Given the description of an element on the screen output the (x, y) to click on. 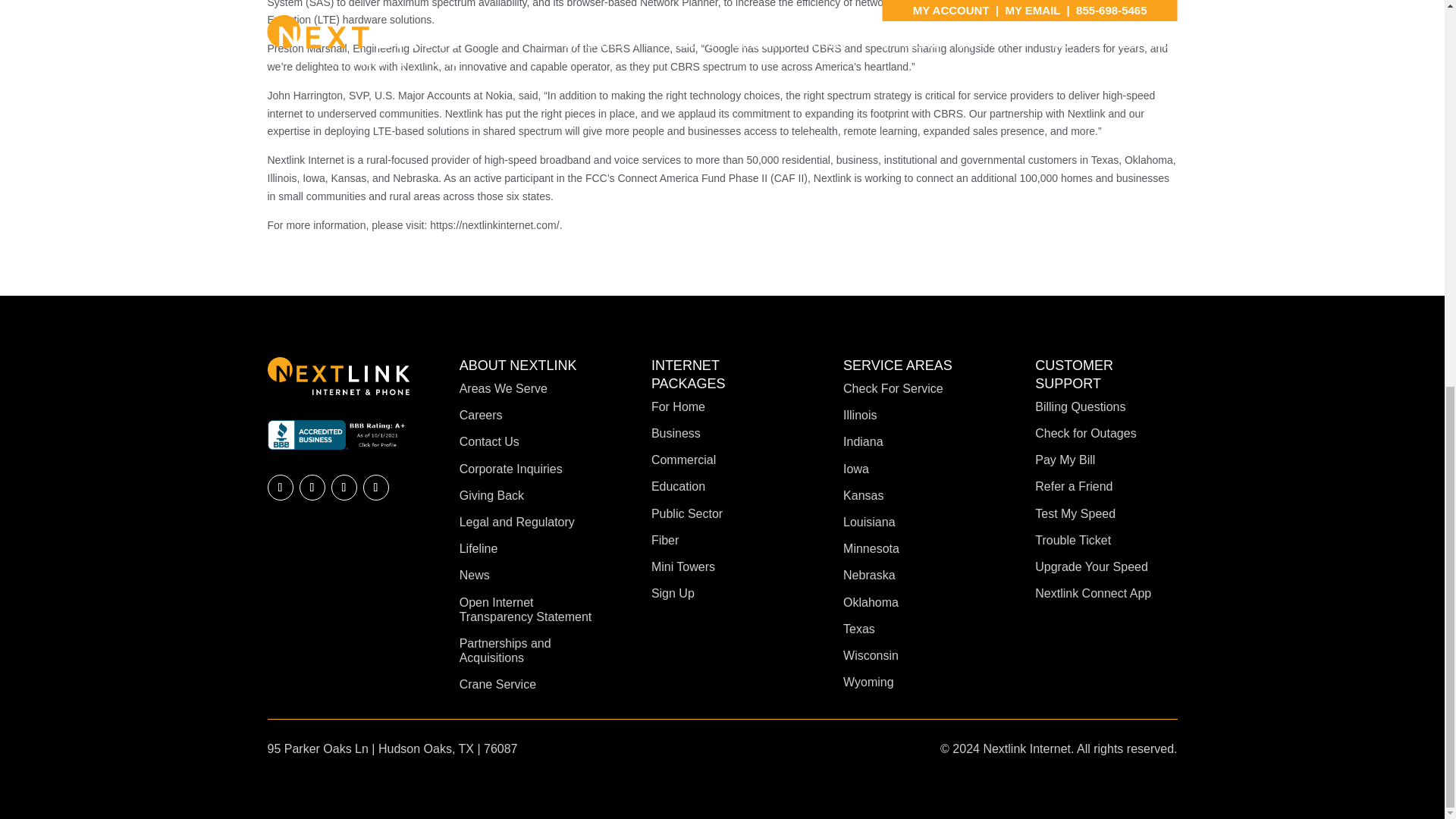
Follow on Facebook (279, 487)
Follow on LinkedIn (311, 487)
Follow on Instagram (375, 487)
Follow on X (343, 487)
BBB (337, 434)
nextlink-internet-and-phone-logo (337, 375)
